Given the description of an element on the screen output the (x, y) to click on. 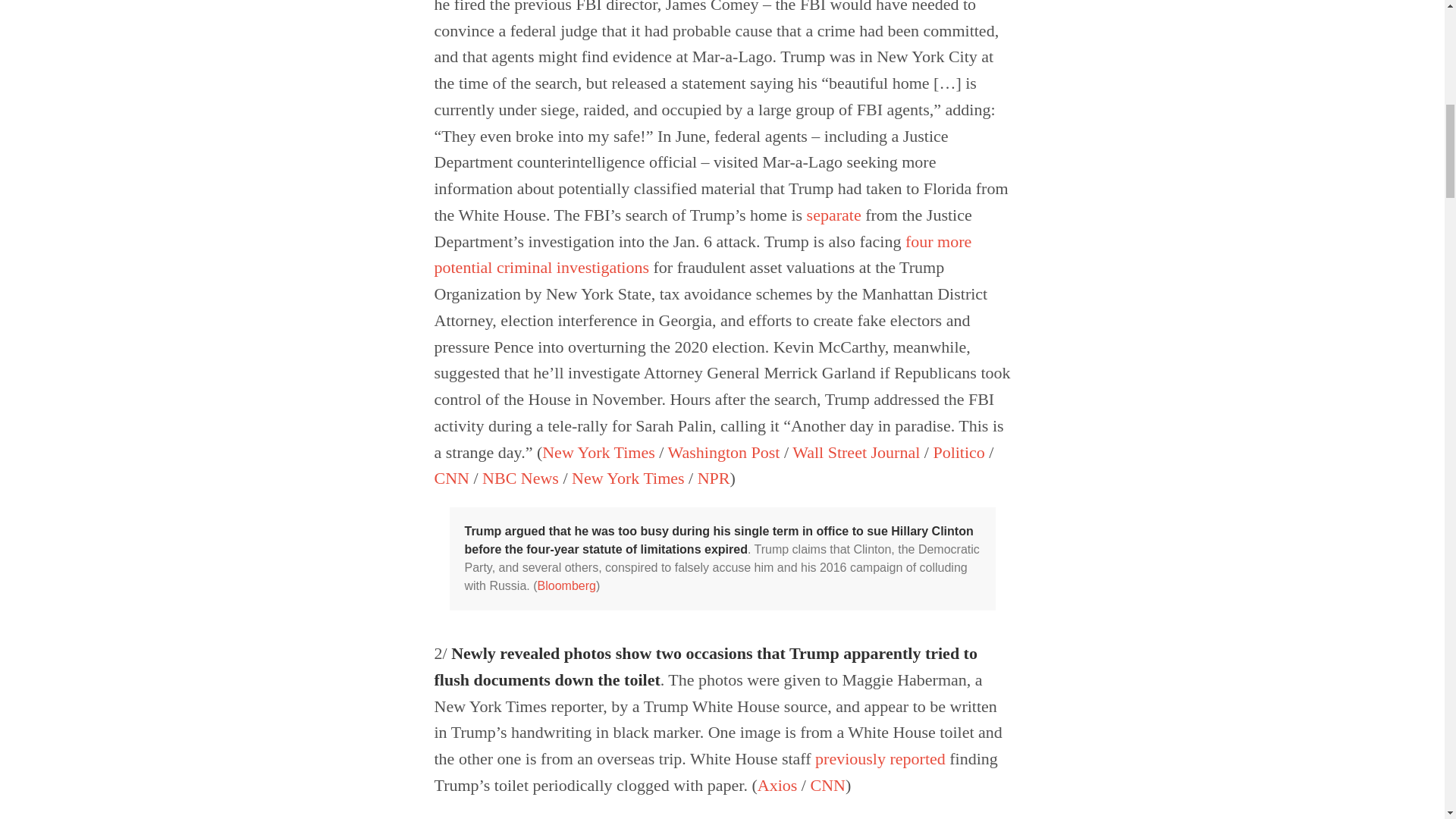
CNN (826, 784)
separate (833, 214)
New York Times (628, 477)
four more potential criminal investigations (702, 254)
Wall Street Journal (856, 452)
NPR (713, 477)
Politico (958, 452)
New York Times (598, 452)
Axios (777, 784)
Washington Post (724, 452)
Bloomberg (566, 585)
NBC News (520, 477)
CNN (450, 477)
previously reported (879, 758)
